Given the description of an element on the screen output the (x, y) to click on. 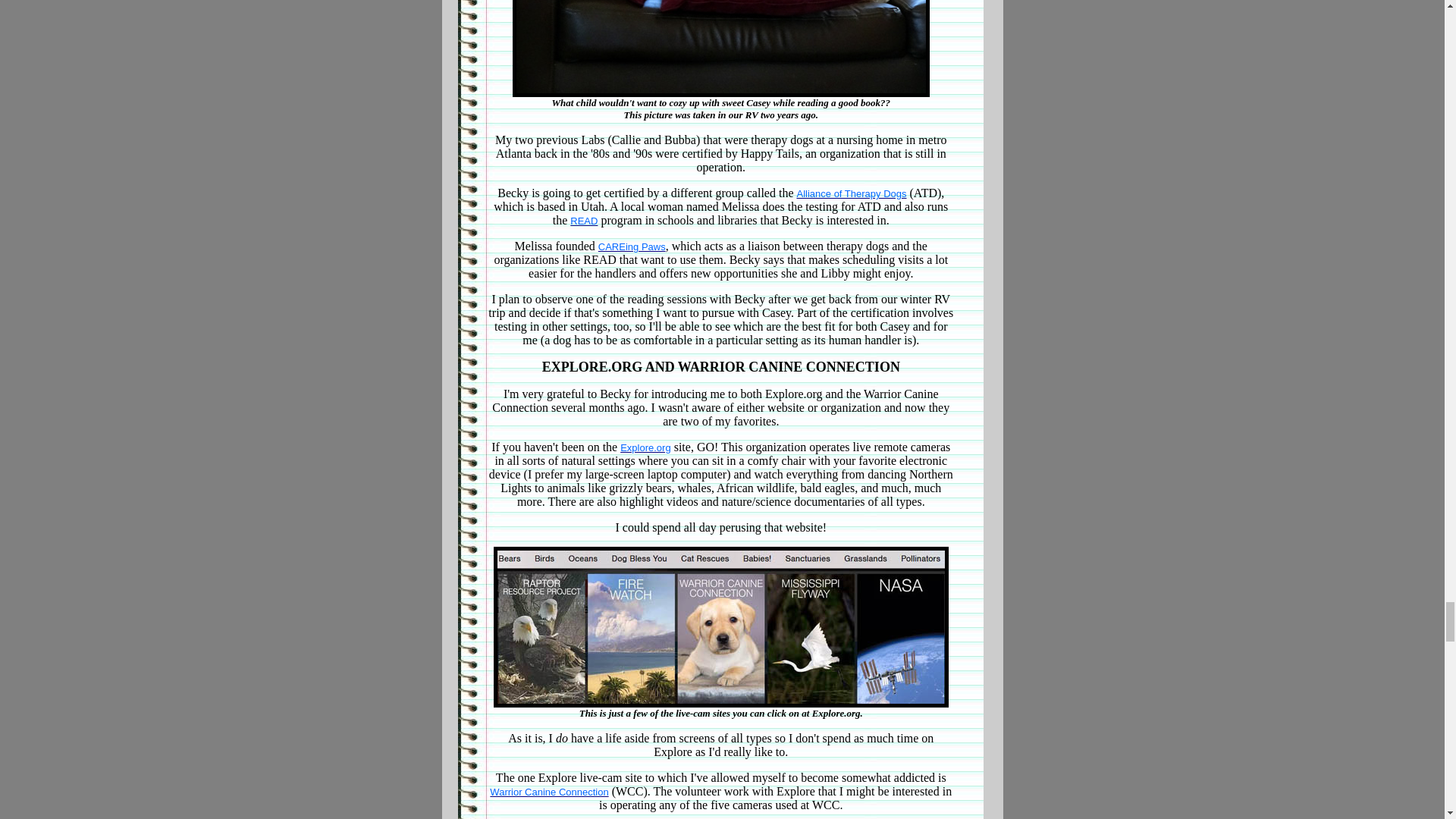
CAREing Paws (631, 246)
Explore.org (644, 447)
Alliance of Therapy Dogs (850, 193)
Warrior Canine Connection (548, 791)
READ (583, 220)
